Given the description of an element on the screen output the (x, y) to click on. 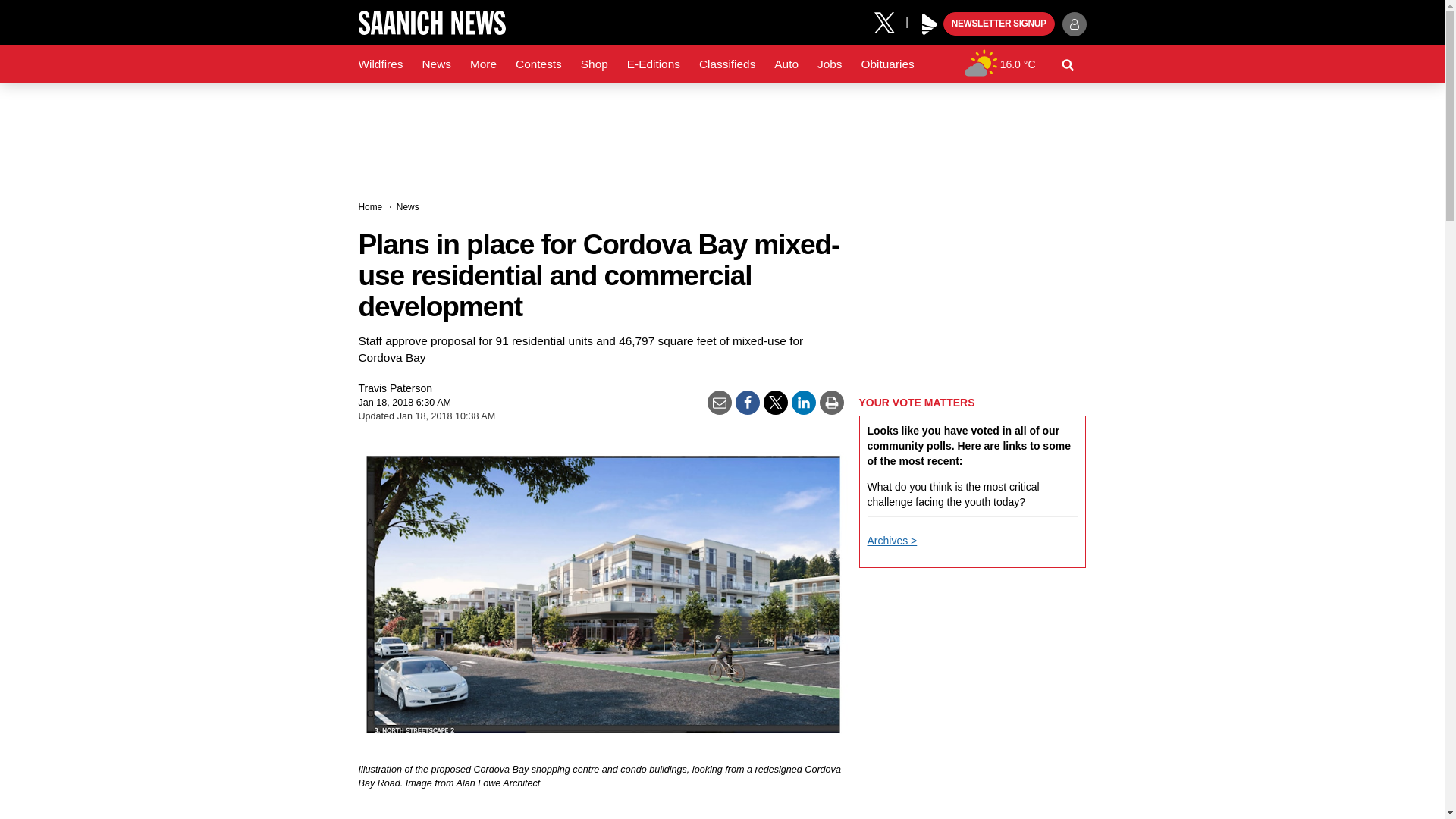
Play (929, 24)
News (435, 64)
Black Press Media (929, 24)
Wildfires (380, 64)
NEWSLETTER SIGNUP (998, 24)
X (889, 21)
